Given the description of an element on the screen output the (x, y) to click on. 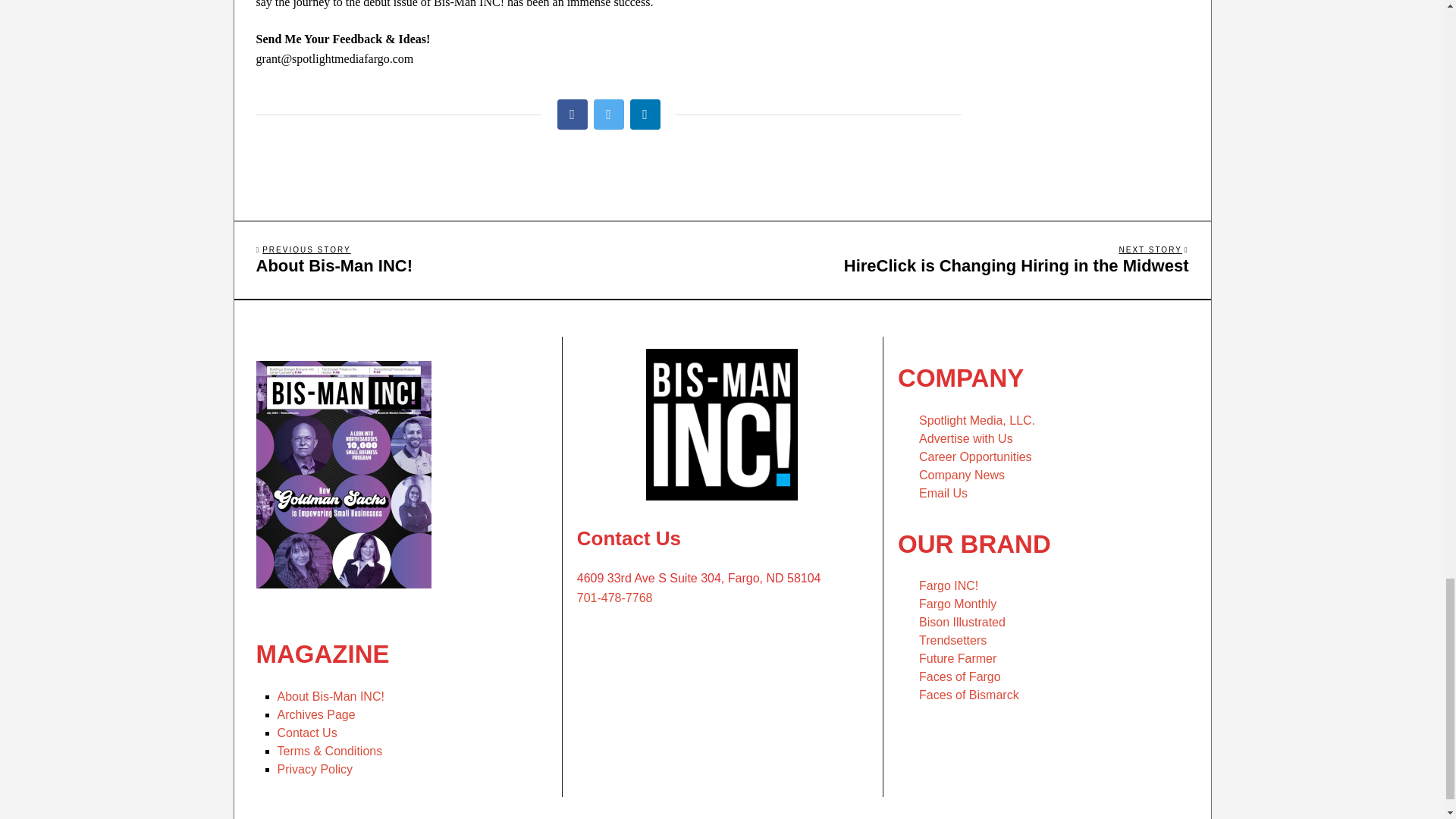
Linkedin (484, 260)
Contact Us (643, 114)
Archives Page (307, 732)
Privacy Policy (316, 714)
Twitter (315, 768)
Facebook (607, 114)
About Bis-Man INC! (959, 260)
